Given the description of an element on the screen output the (x, y) to click on. 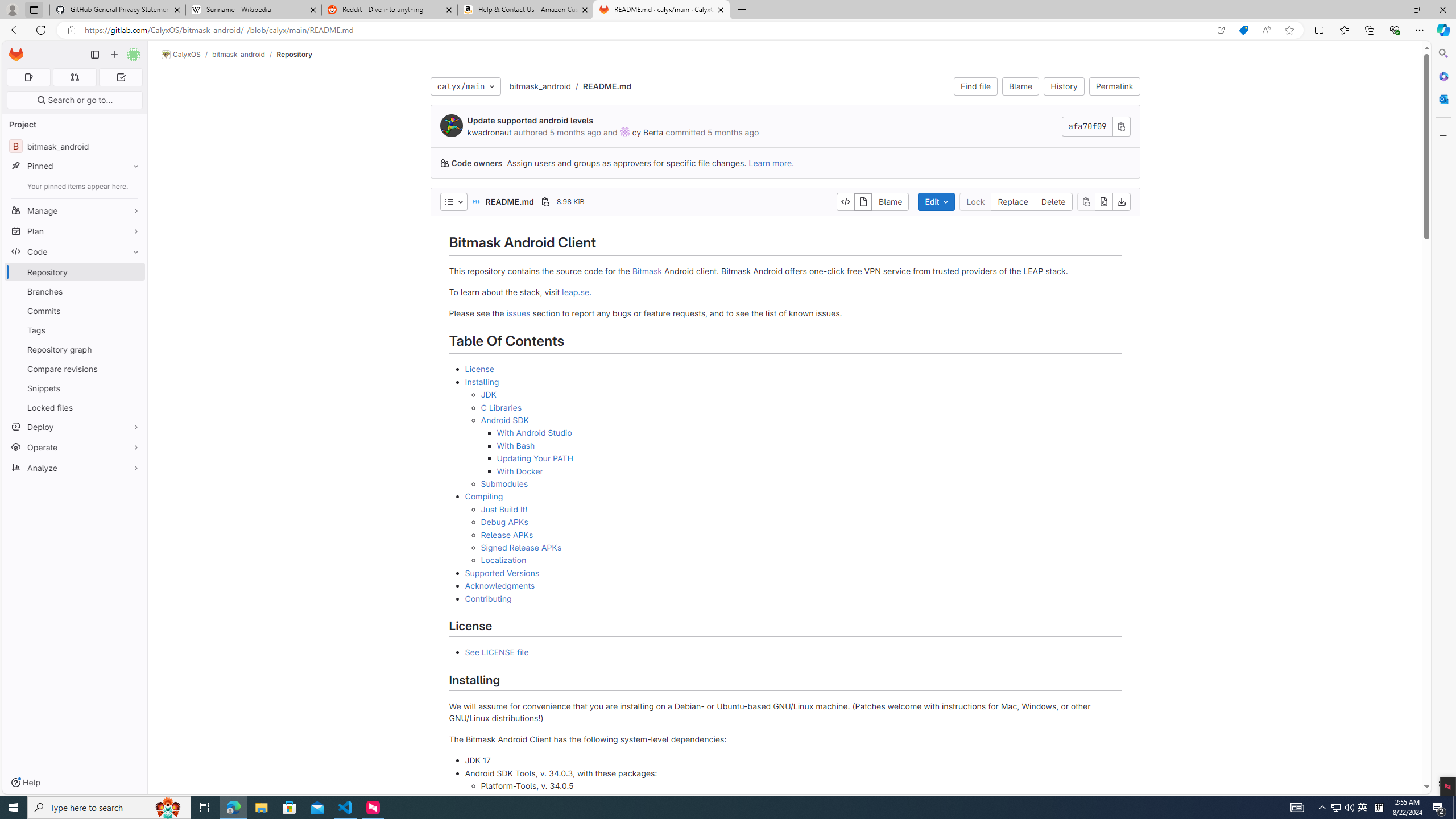
Operate (74, 447)
Operate (74, 447)
AutomationID: dropdown-toggle-btn-62 (453, 201)
Deploy (74, 426)
Copy commit SHA (1121, 126)
Pin Locked files (132, 407)
Debug APKs (800, 522)
Pin Snippets (132, 387)
Compare revisions (74, 368)
Open raw (1103, 201)
Tags (74, 330)
Replace (1012, 201)
